Given the description of an element on the screen output the (x, y) to click on. 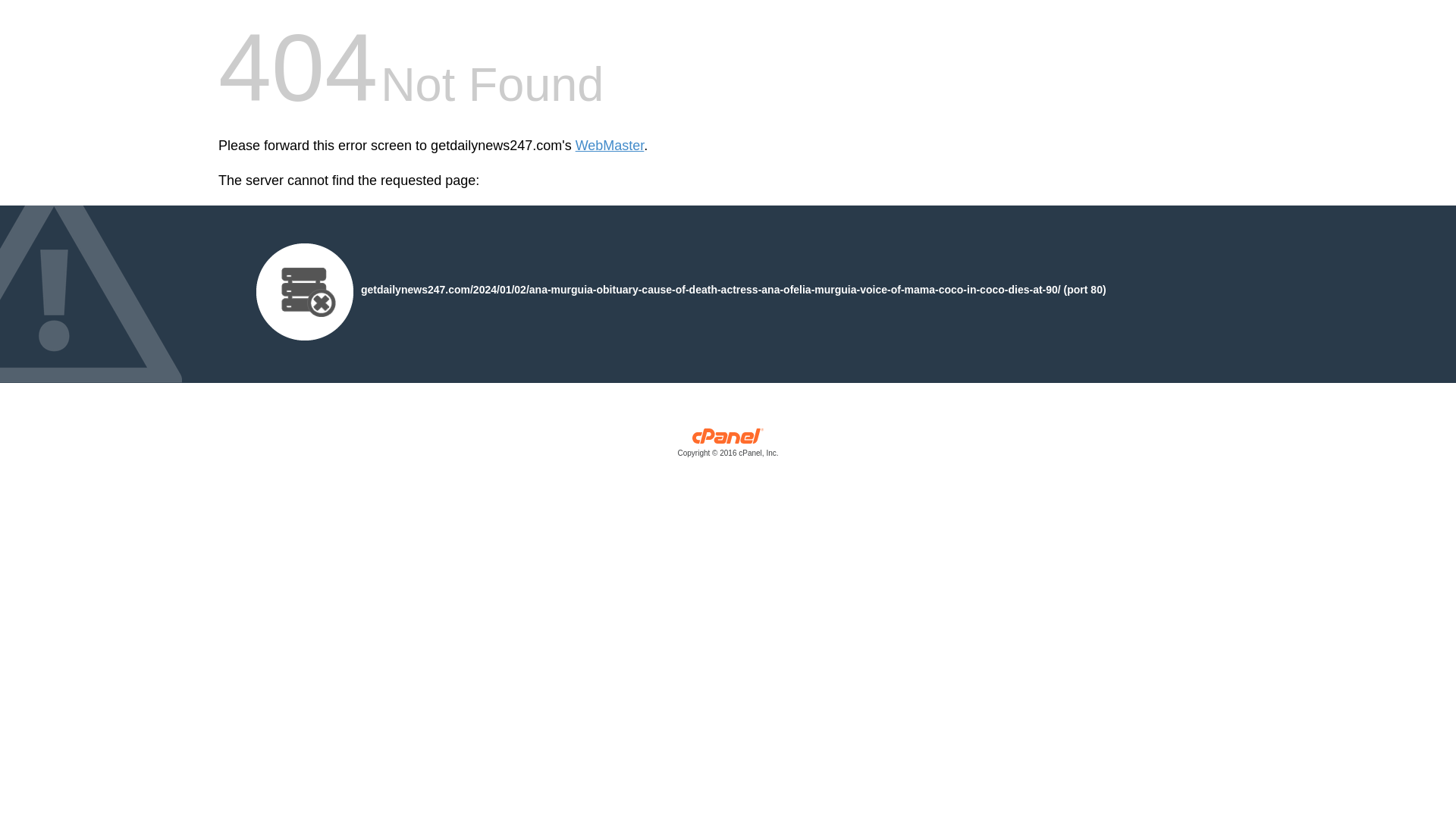
WebMaster (610, 145)
cPanel, Inc. (727, 446)
